Given the description of an element on the screen output the (x, y) to click on. 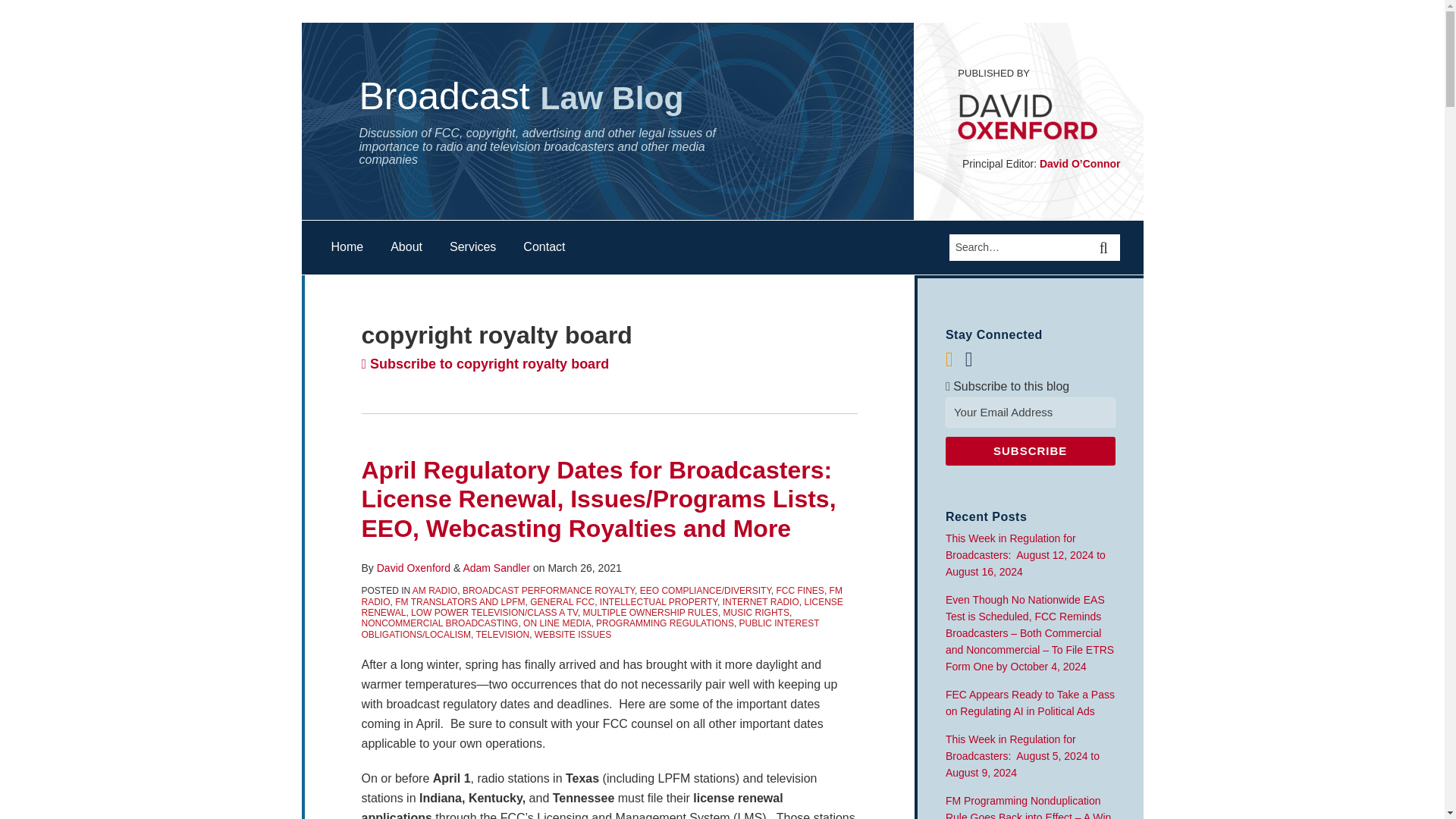
Adam Sandler (496, 567)
MUSIC RIGHTS (756, 612)
GENERAL FCC (561, 602)
WEBSITE ISSUES (572, 634)
Home (346, 247)
TELEVISION (502, 634)
Services (472, 247)
SEARCH (1105, 247)
Subscribe (1029, 451)
Contact (543, 247)
